Given the description of an element on the screen output the (x, y) to click on. 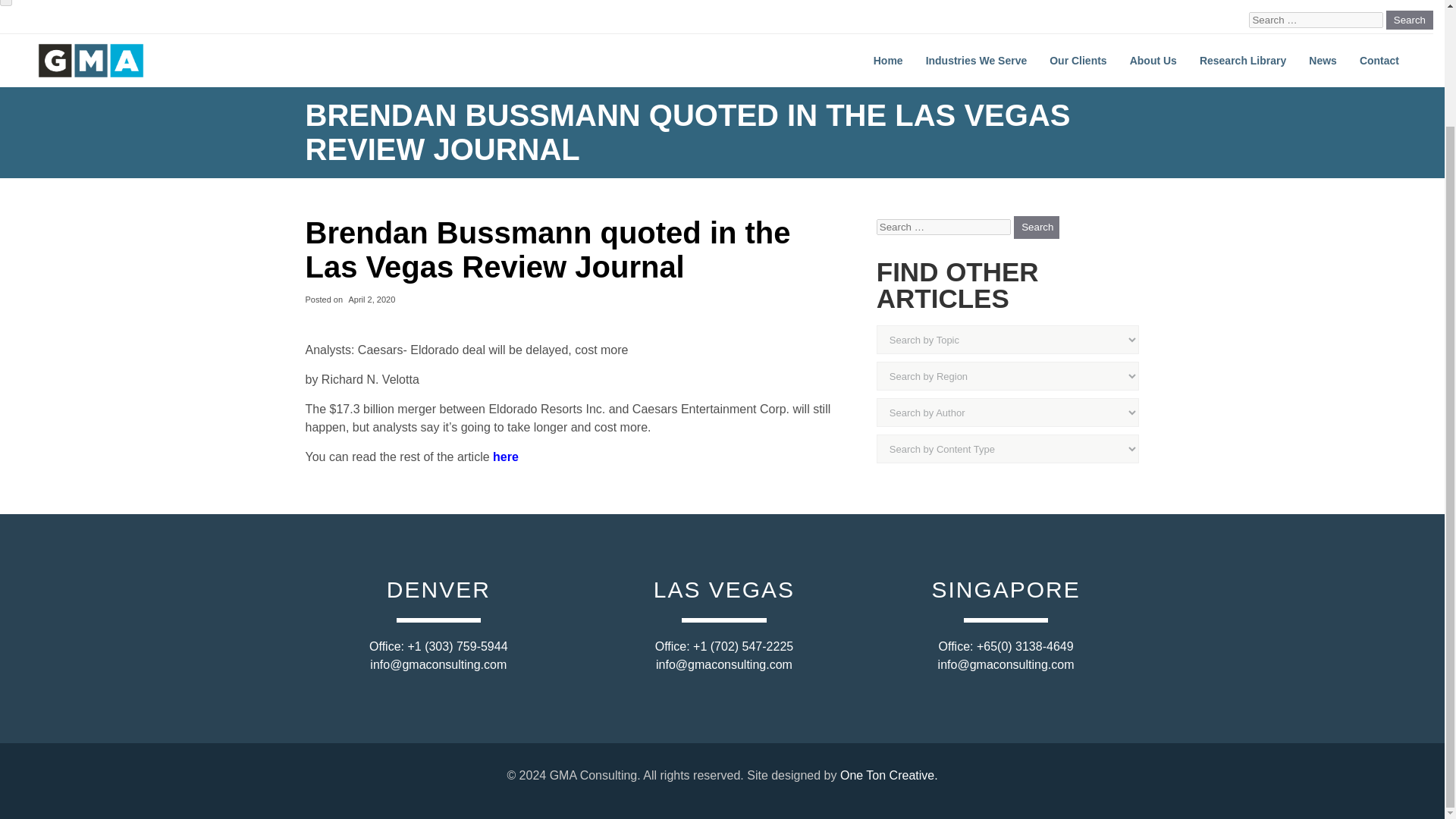
Search (1409, 19)
Search (1036, 227)
Search (1409, 19)
Our Clients (1077, 60)
here (505, 456)
Search (1036, 227)
Industries We Serve (976, 60)
Research Library (1242, 60)
Search (1036, 227)
Search (1409, 19)
